Given the description of an element on the screen output the (x, y) to click on. 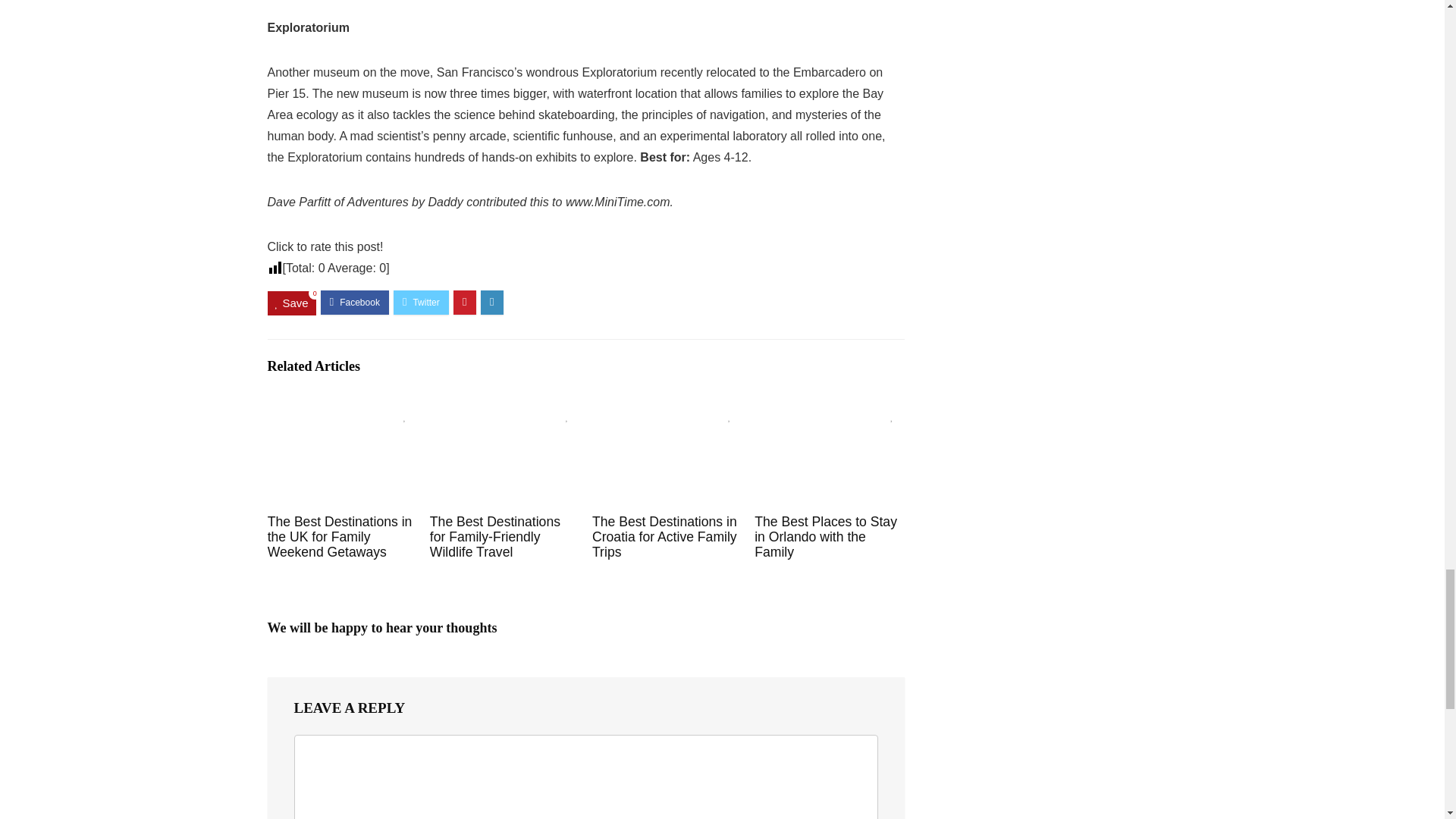
The Best Destinations for Family-Friendly Wildlife Travel (494, 536)
The Best Destinations in Croatia for Active Family Trips (664, 536)
The Best Destinations in the UK for Family Weekend Getaways (339, 536)
The Best Places to Stay in Orlando with the Family (825, 536)
